Given the description of an element on the screen output the (x, y) to click on. 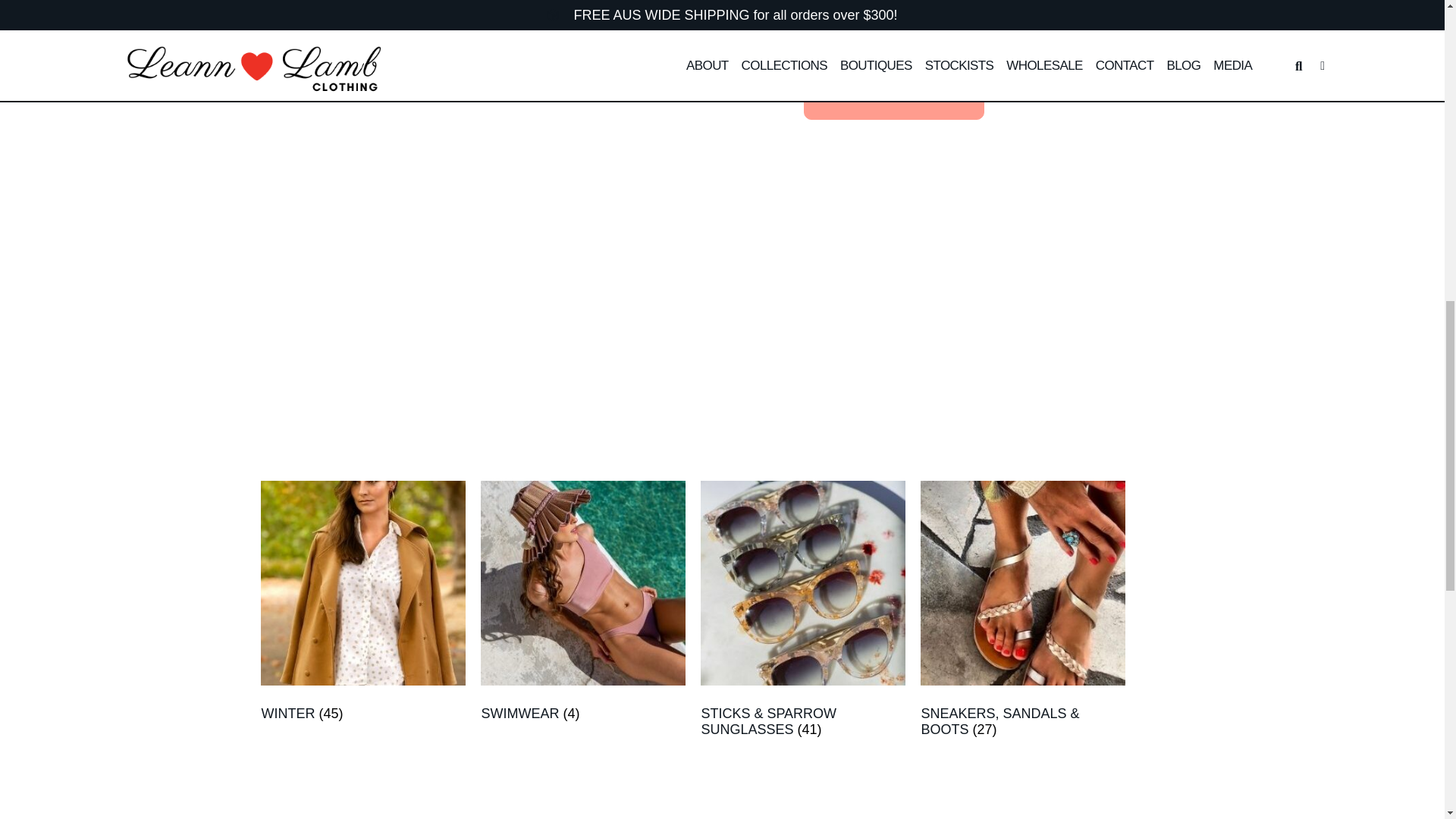
PayPal Message 1 (939, 128)
PayPal (939, 168)
